Given the description of an element on the screen output the (x, y) to click on. 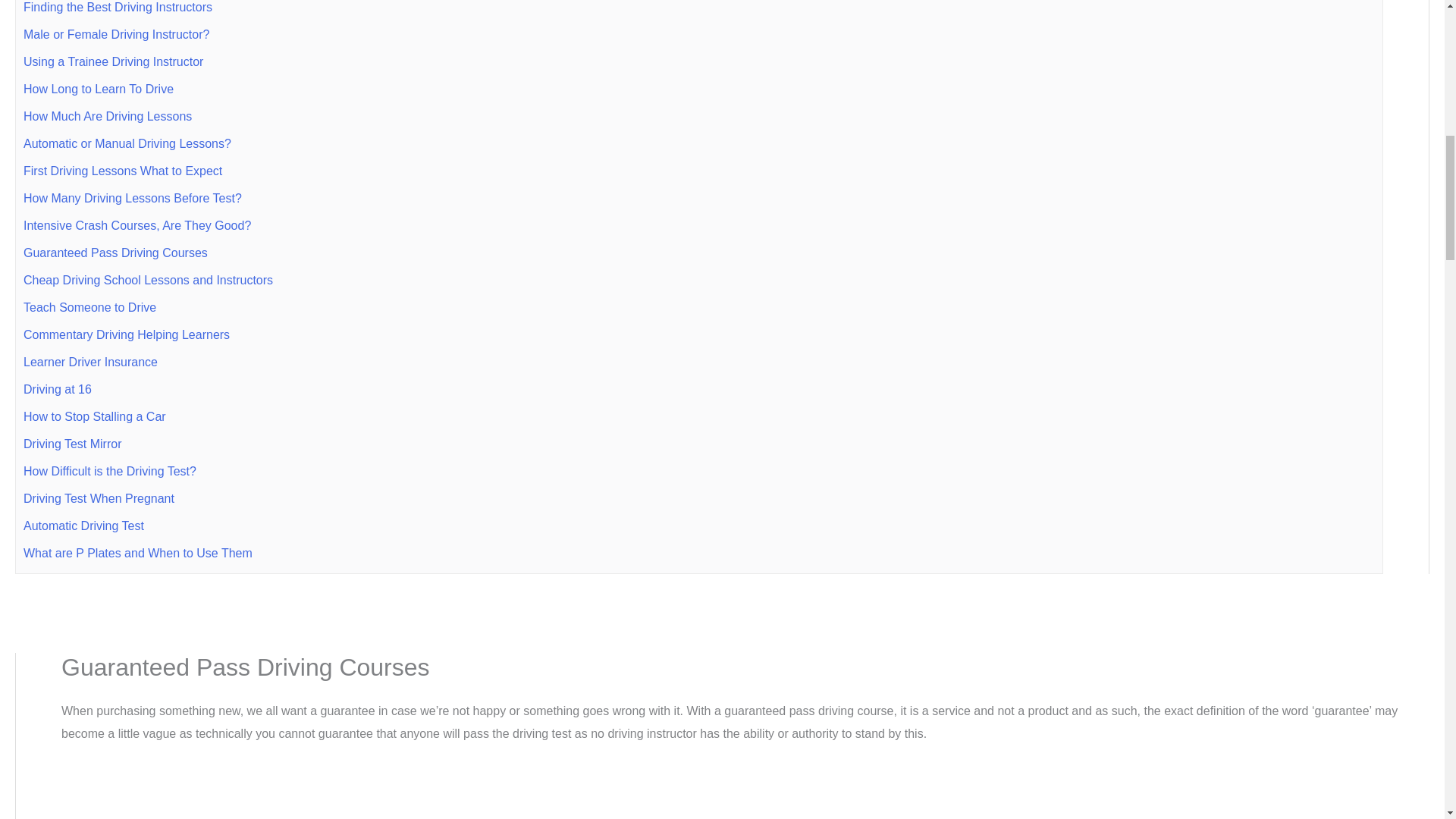
Finding the Best Driving Instructors (117, 6)
Automatic Driving Test (83, 525)
How Difficult is the Driving Test? (109, 471)
Using a Trainee Driving Instructor (113, 61)
Learner Driver Insurance (90, 361)
First Driving Lessons What to Expect (122, 170)
How Long to Learn To Drive (98, 88)
Cheap Driving School Lessons and Instructors (148, 279)
How Many Driving Lessons Before Test? (132, 197)
Driving Test When Pregnant (98, 498)
Male or Female Driving Instructor? (116, 33)
Teach Someone to Drive (89, 307)
How to Stop Stalling a Car (94, 416)
What are P Plates and When to Use Them (137, 553)
Driving at 16 (57, 389)
